Given the description of an element on the screen output the (x, y) to click on. 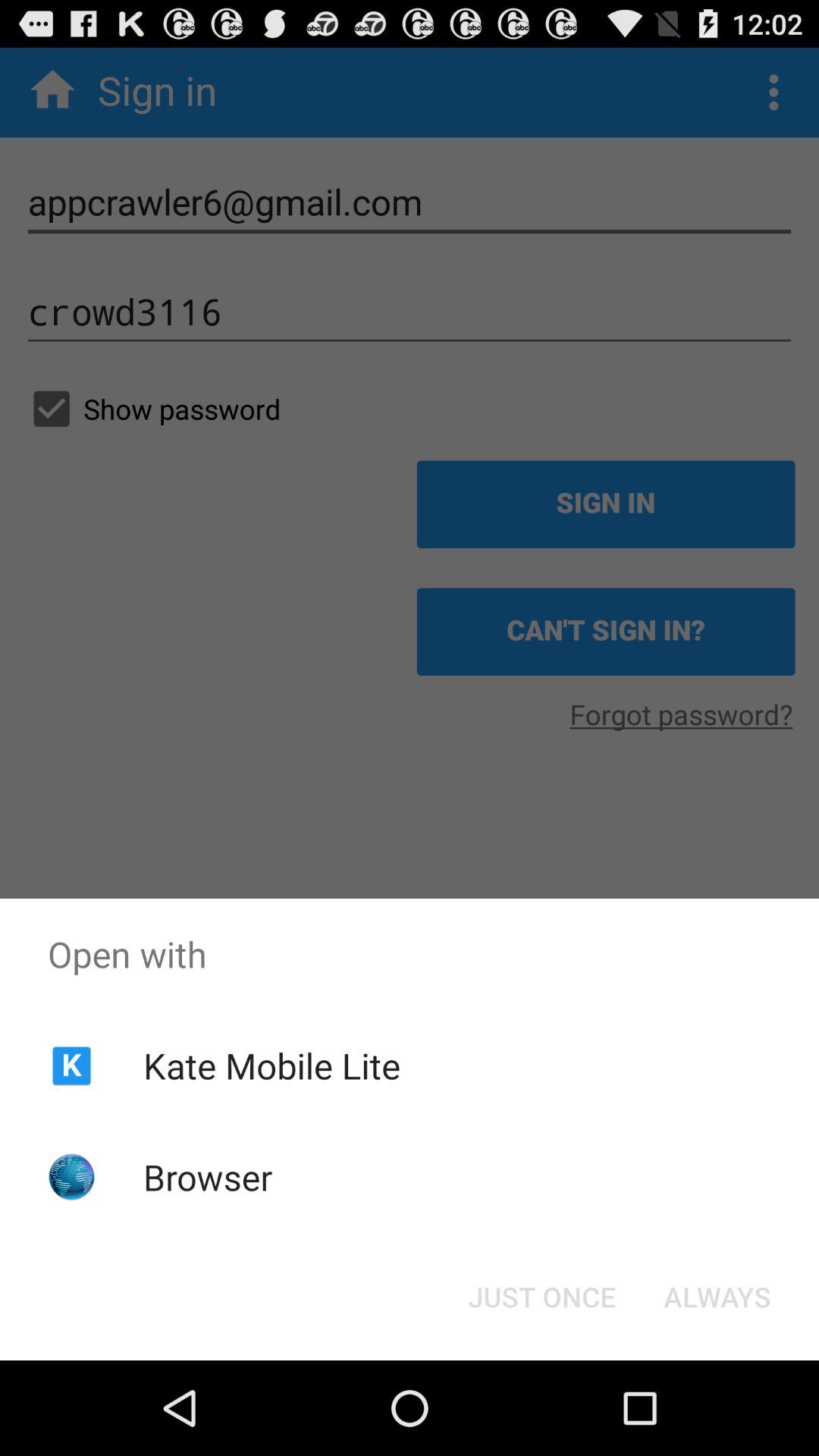
tap kate mobile lite item (271, 1065)
